Given the description of an element on the screen output the (x, y) to click on. 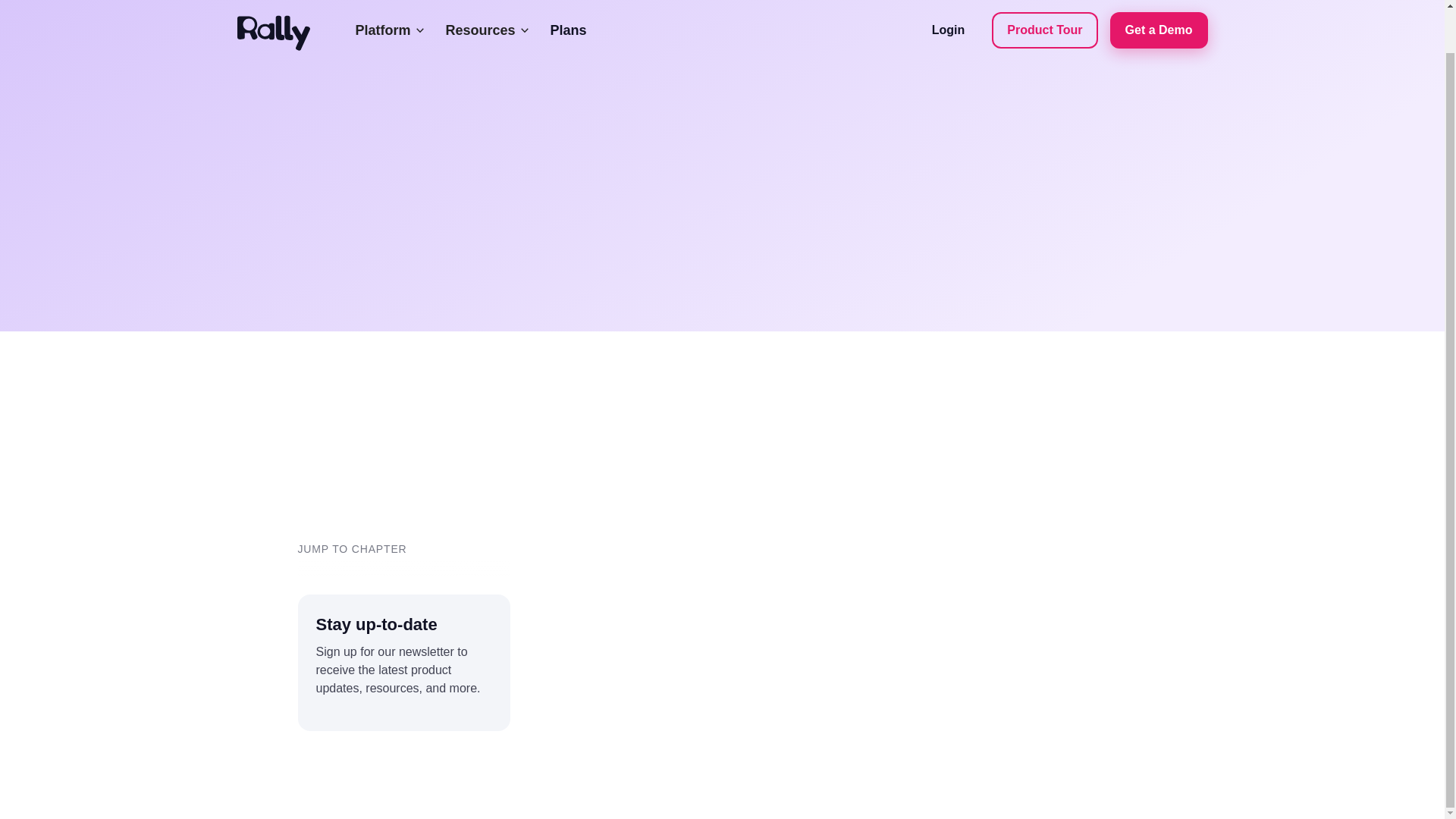
Product Tour (1044, 1)
Login (948, 1)
Get a Demo (1158, 1)
Plans (568, 7)
